Given the description of an element on the screen output the (x, y) to click on. 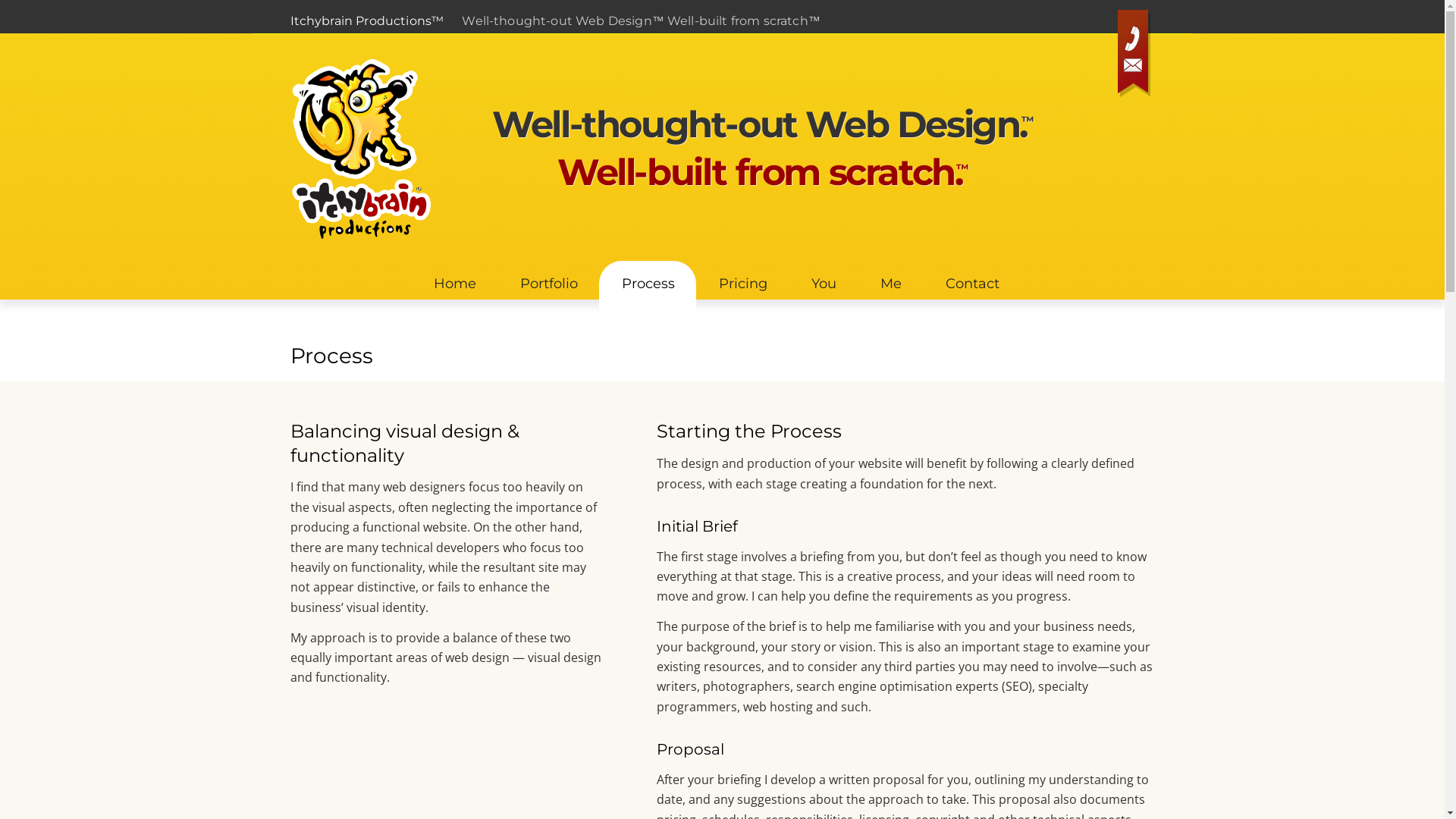
Me Element type: text (889, 279)
Contact Element type: text (971, 279)
Process Element type: text (647, 286)
Home Element type: text (454, 279)
Process Element type: text (330, 355)
You Element type: text (822, 279)
Contact Element type: text (1135, 56)
Pricing Element type: text (742, 279)
Portfolio Element type: text (548, 279)
